Given the description of an element on the screen output the (x, y) to click on. 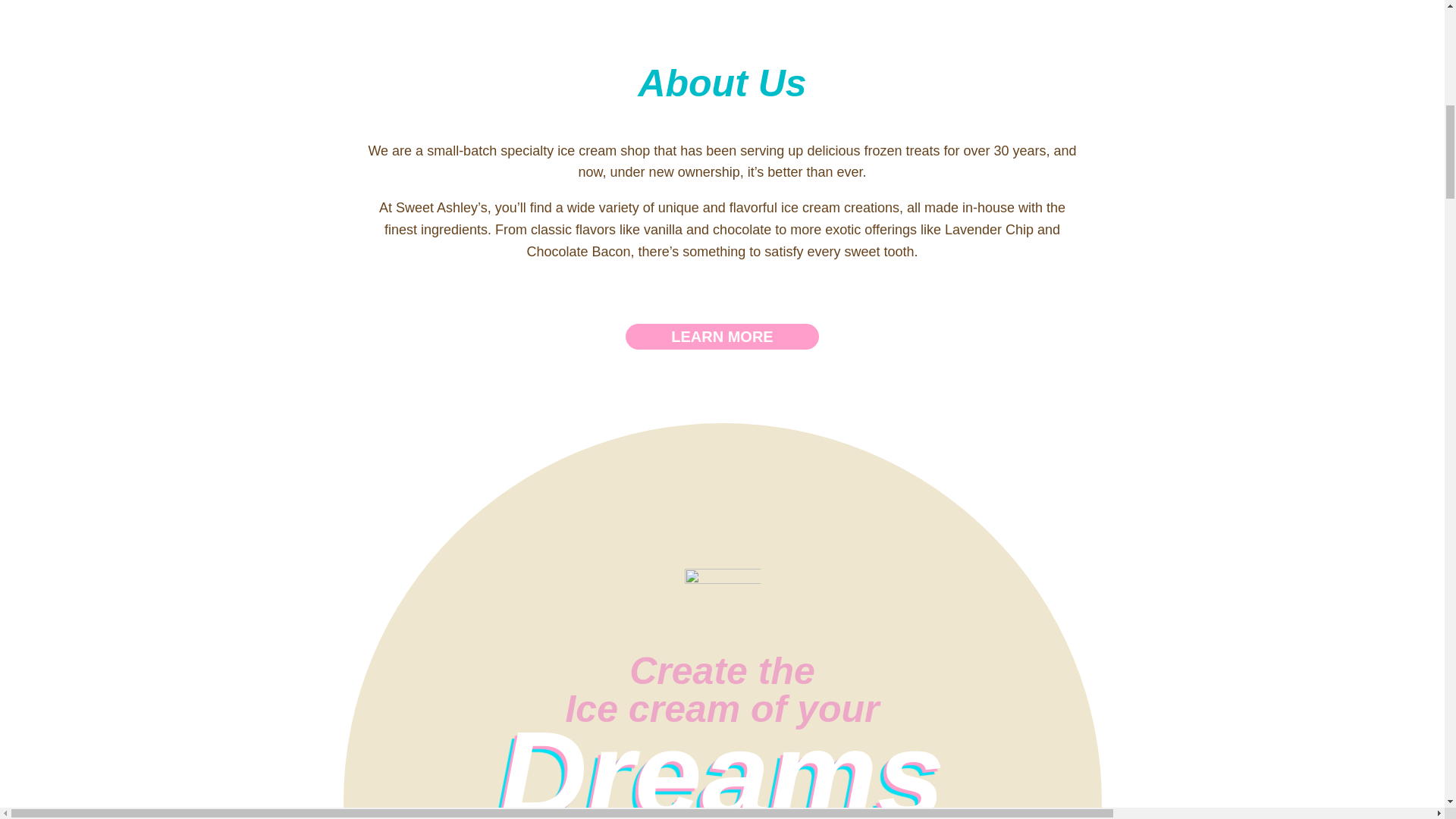
ice cream pink (722, 606)
LEARN MORE (722, 336)
